Given the description of an element on the screen output the (x, y) to click on. 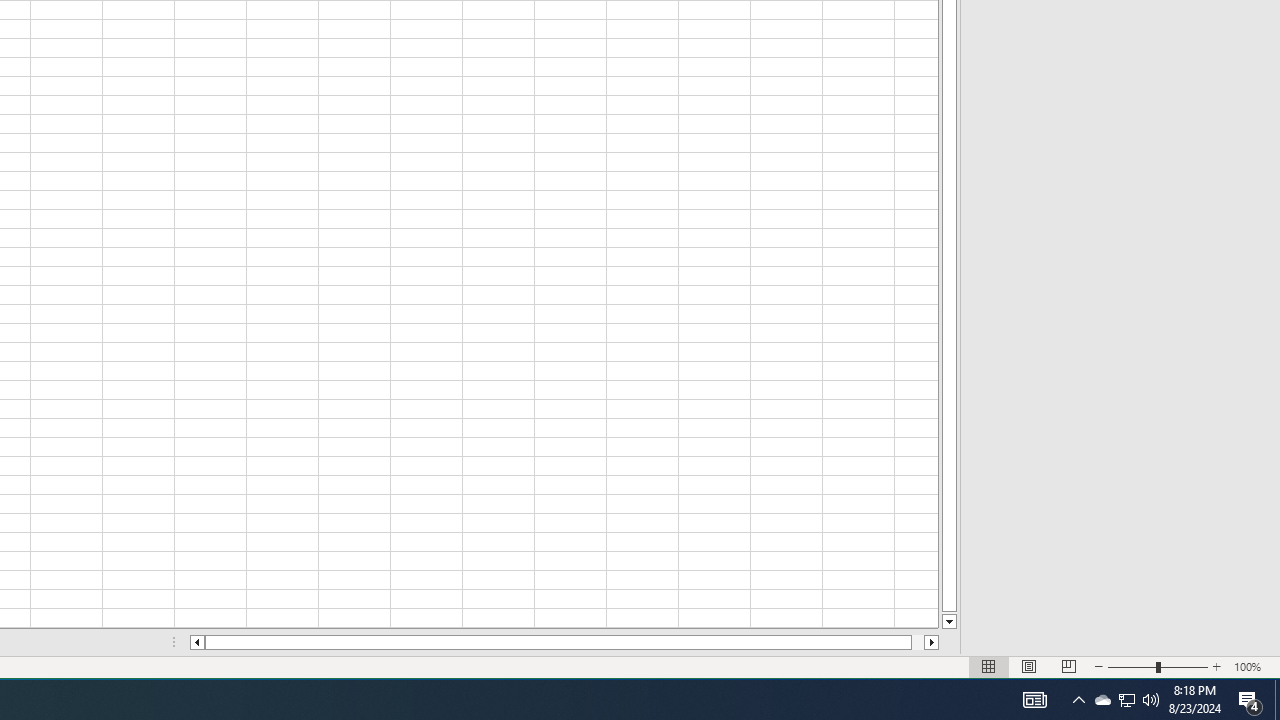
AutomationID: 4105 (1034, 699)
Notification Chevron (1126, 699)
Show desktop (1078, 699)
Action Center, 4 new notifications (1277, 699)
User Promoted Notification Area (1250, 699)
Q2790: 100% (1102, 699)
